Given the description of an element on the screen output the (x, y) to click on. 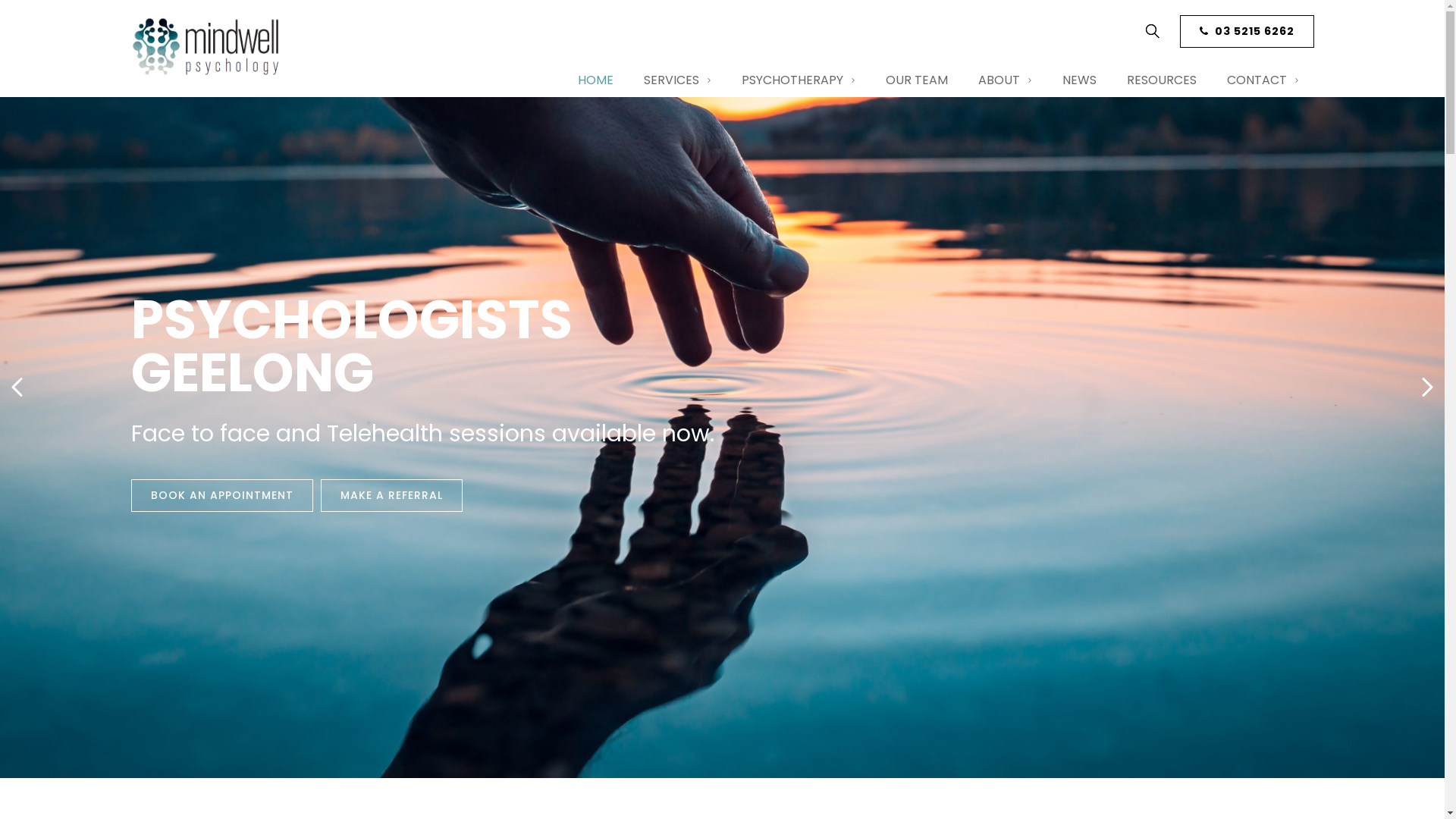
RESOURCES Element type: text (1161, 79)
HOME Element type: text (595, 79)
OUR TEAM Element type: text (916, 79)
MAKE A REFERRAL Element type: text (628, 520)
SERVICES Element type: text (676, 79)
BOOK AN APPOINTMENT Element type: text (495, 521)
ABOUT Element type: text (1005, 79)
 03 5215 6262 Element type: text (1246, 31)
CONTACT Element type: text (1262, 79)
PSYCHOTHERAPY Element type: text (798, 79)
NEWS Element type: text (1078, 79)
